Given the description of an element on the screen output the (x, y) to click on. 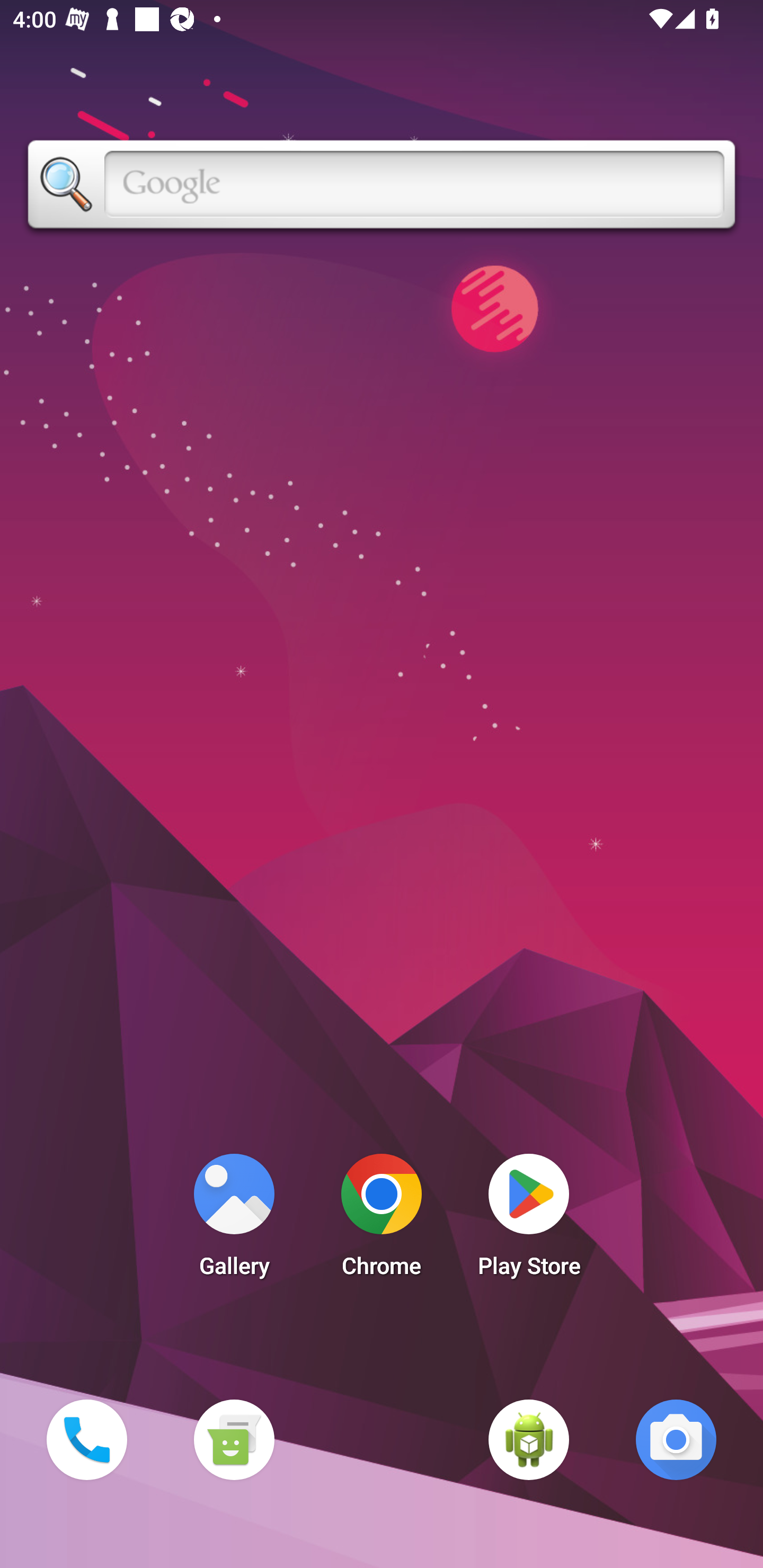
Gallery (233, 1220)
Chrome (381, 1220)
Play Store (528, 1220)
Phone (86, 1439)
Messaging (233, 1439)
WebView Browser Tester (528, 1439)
Camera (676, 1439)
